Given the description of an element on the screen output the (x, y) to click on. 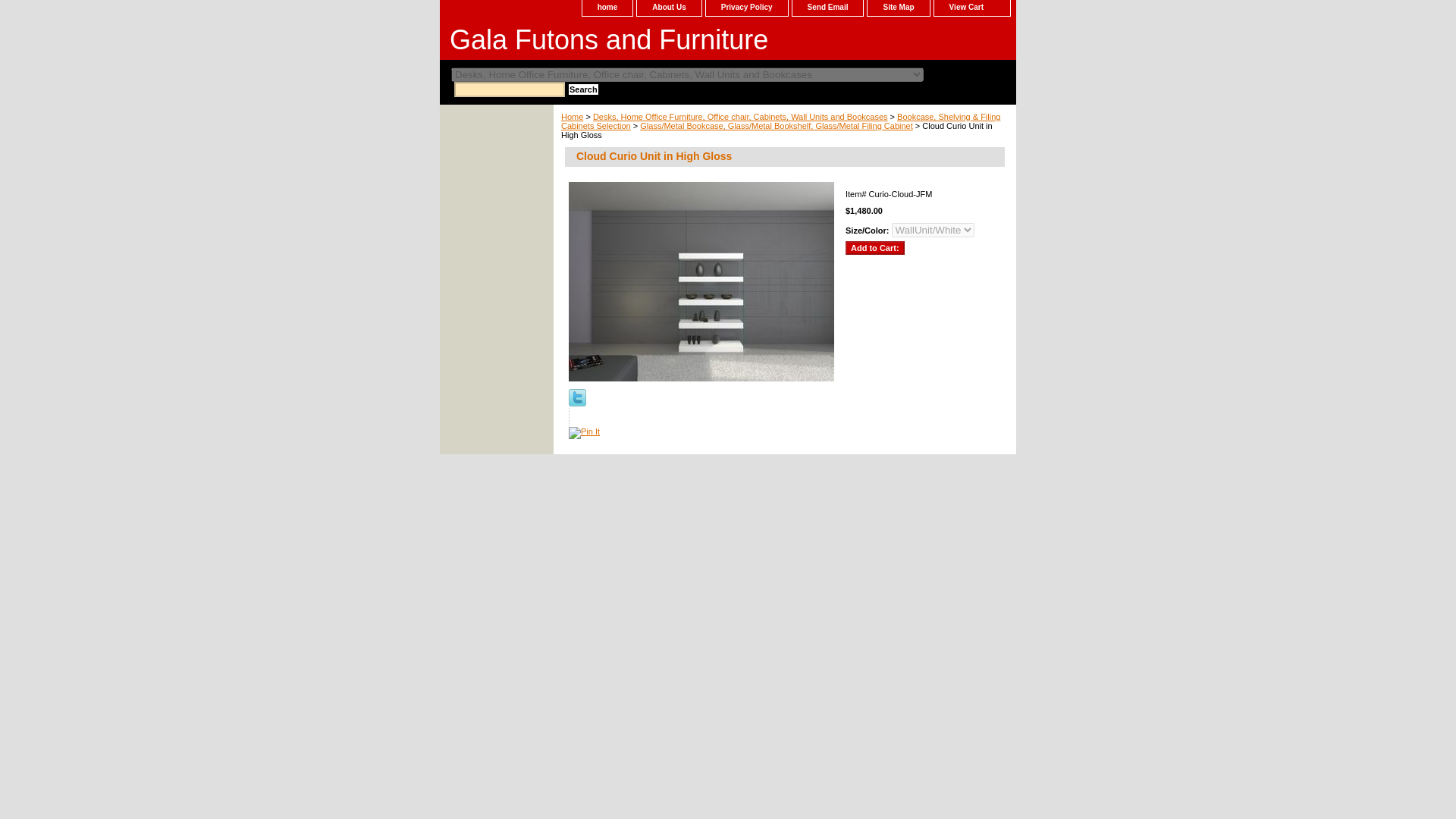
View Cart (972, 7)
Gala Futons and Furniture (628, 41)
Privacy Policy (746, 7)
Pin It (584, 432)
Cloud Curio Unit in High Gloss (701, 281)
Gala Futons and Furniture (628, 41)
home (607, 7)
Search (583, 89)
Send Email (827, 7)
